Given the description of an element on the screen output the (x, y) to click on. 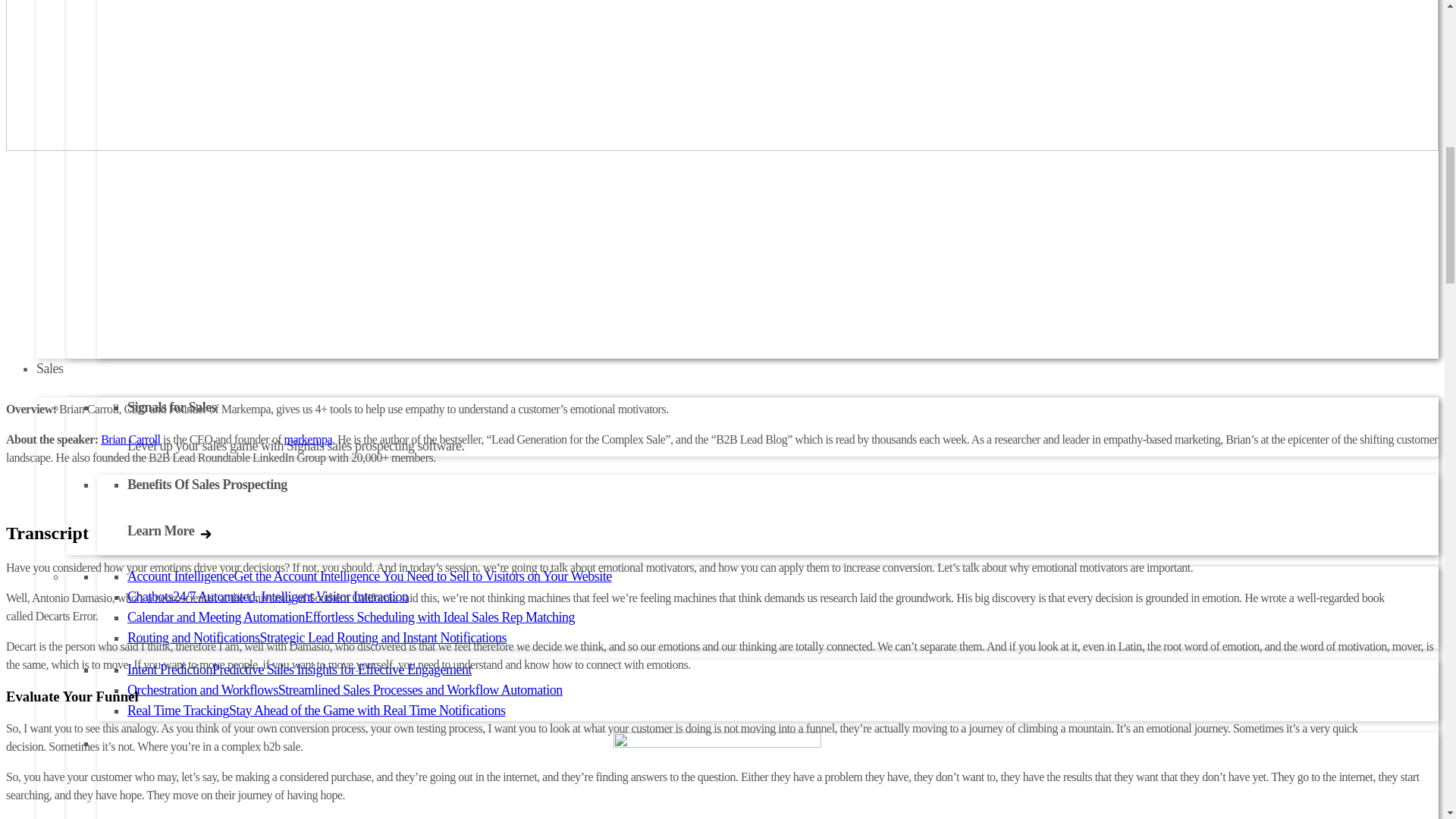
Sales (50, 368)
Brian Carroll (130, 439)
markempa (307, 439)
